Given the description of an element on the screen output the (x, y) to click on. 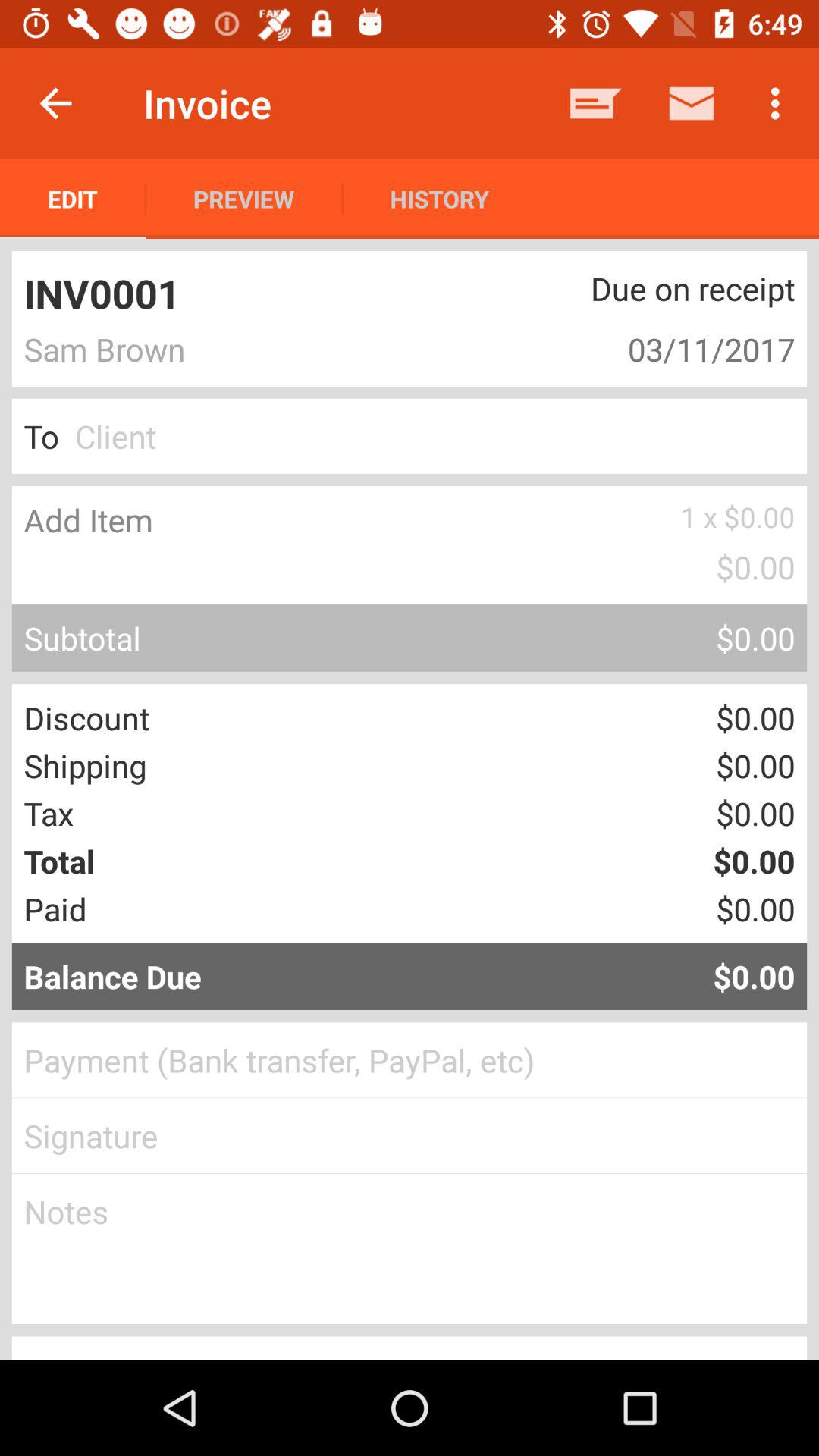
turn on the item to the left of preview item (72, 198)
